Given the description of an element on the screen output the (x, y) to click on. 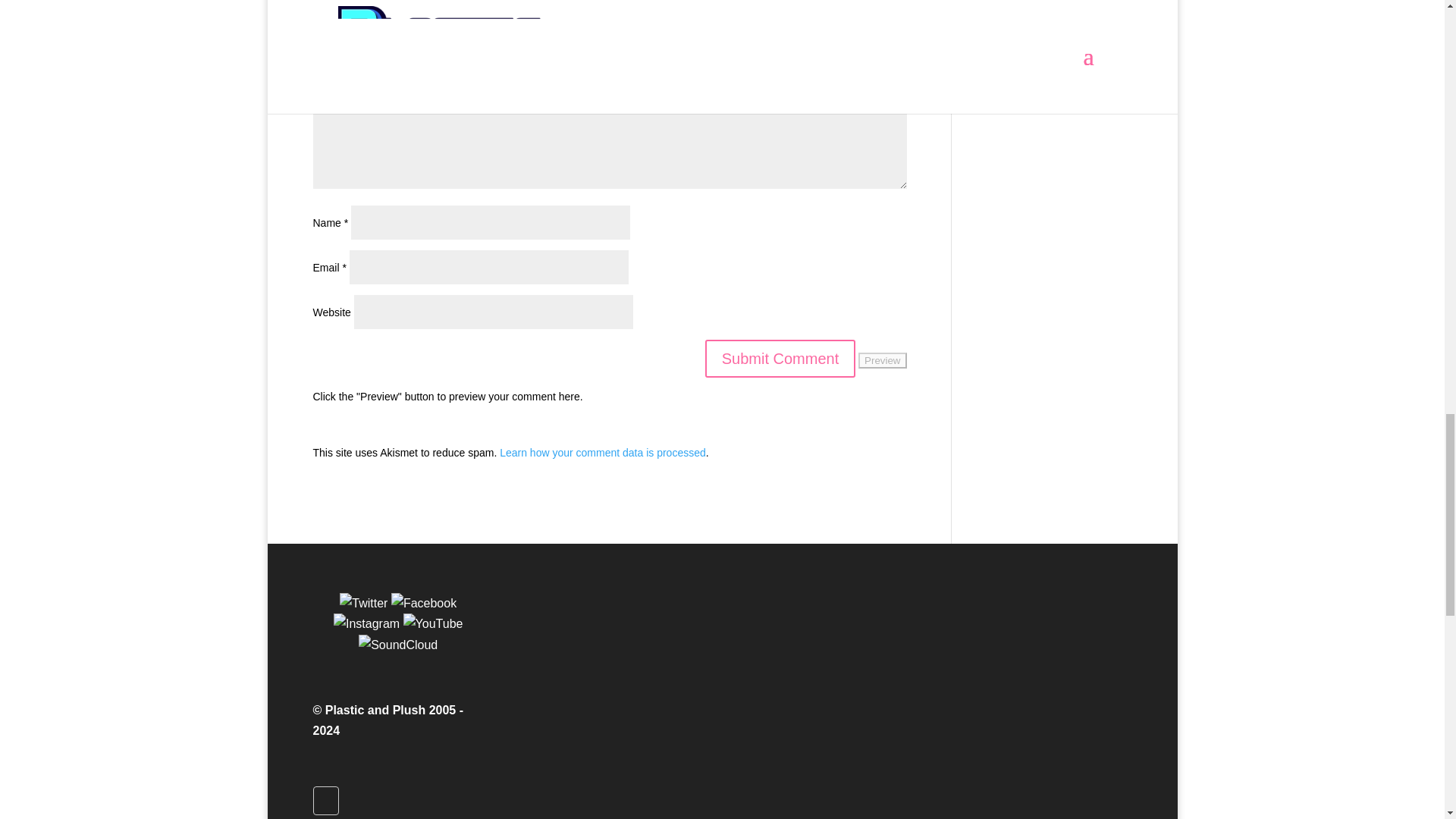
Preview (882, 360)
Submit Comment (780, 358)
Submit Comment (780, 358)
Learn how your comment data is processed (602, 452)
